Given the description of an element on the screen output the (x, y) to click on. 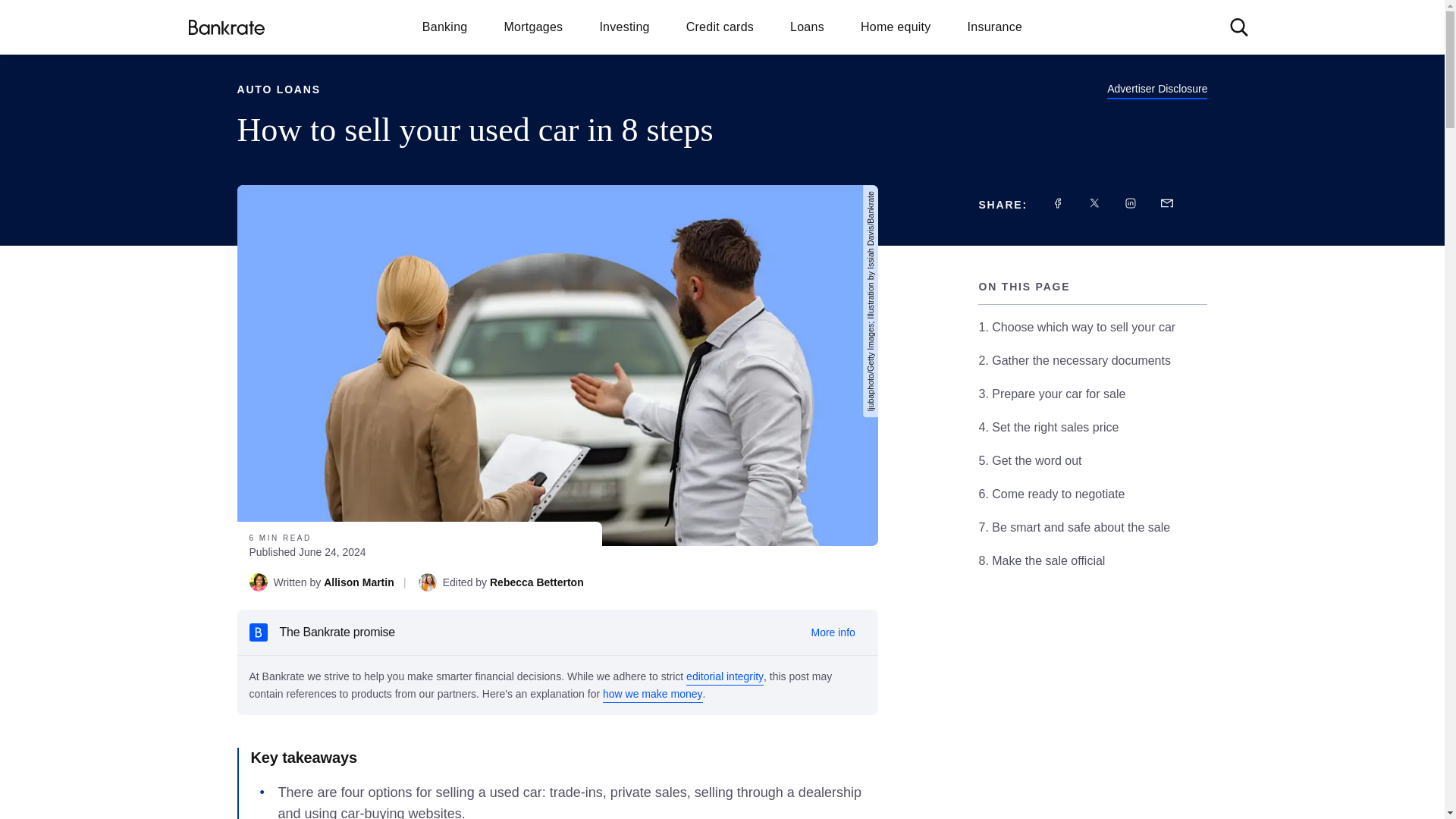
Banking (445, 25)
Email (1166, 203)
Facebook (1057, 203)
Twitter (1093, 203)
Linkedin (1130, 203)
